Given the description of an element on the screen output the (x, y) to click on. 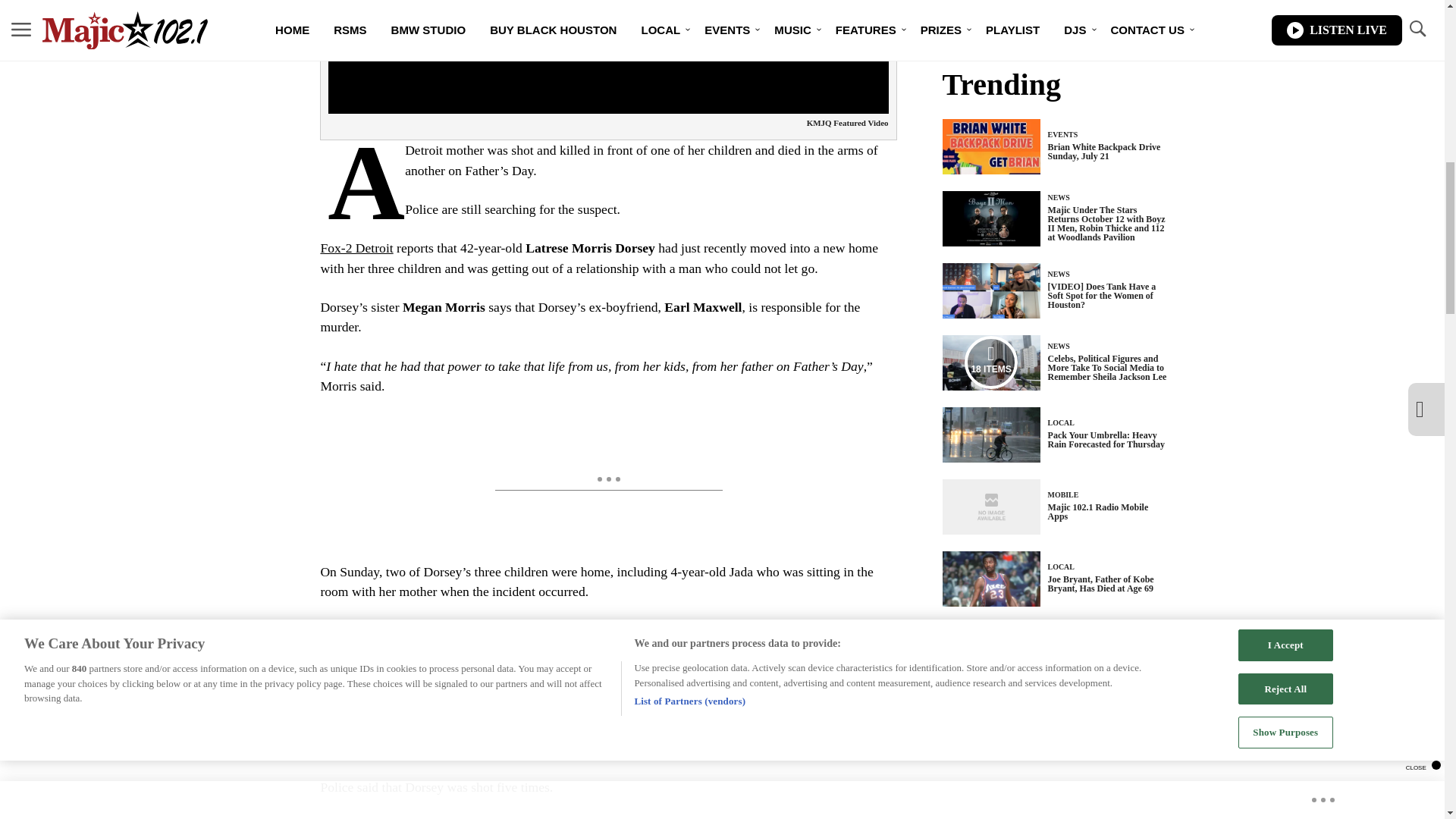
Media Playlist (990, 362)
